Given the description of an element on the screen output the (x, y) to click on. 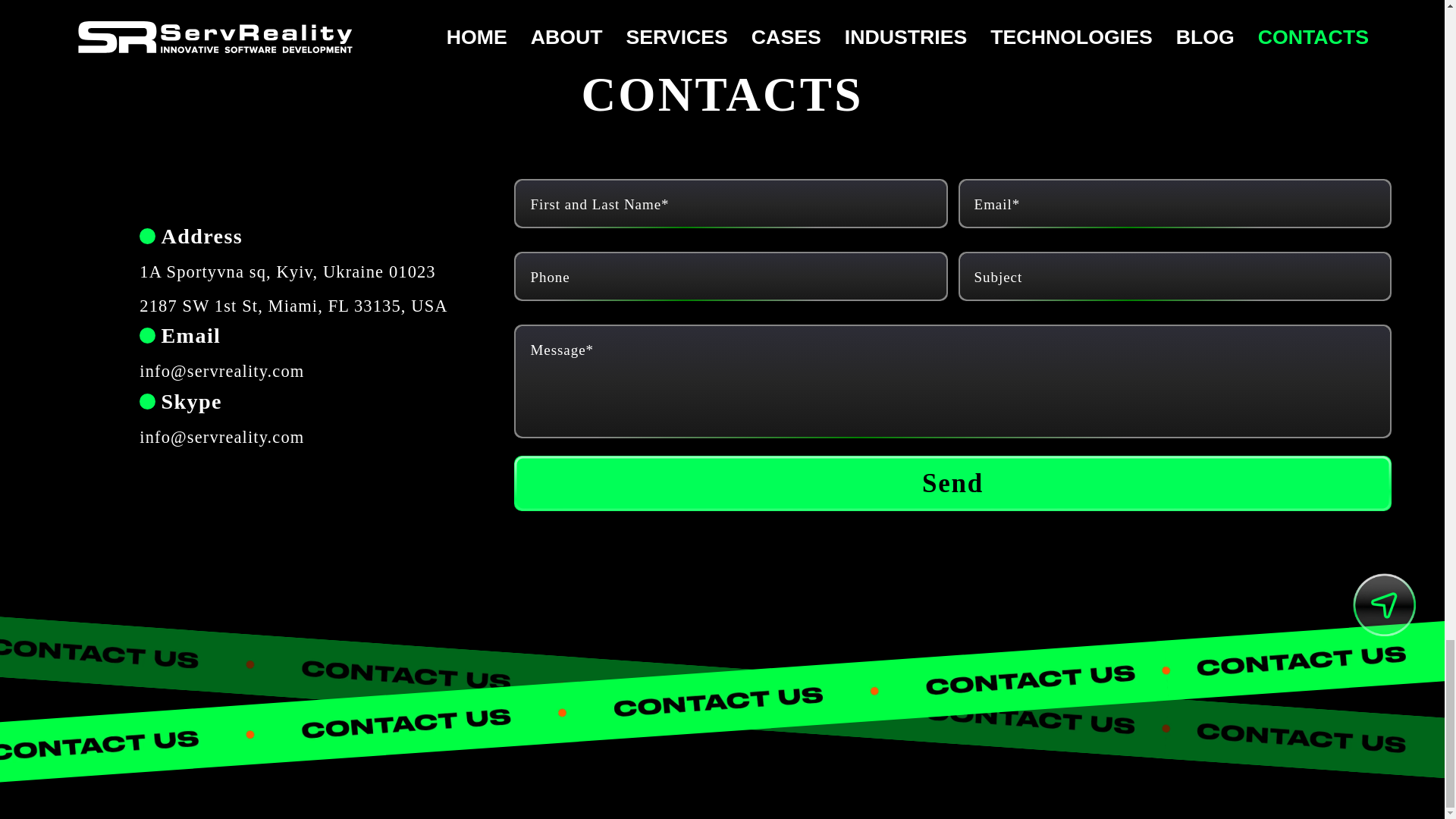
Send (951, 483)
